Given the description of an element on the screen output the (x, y) to click on. 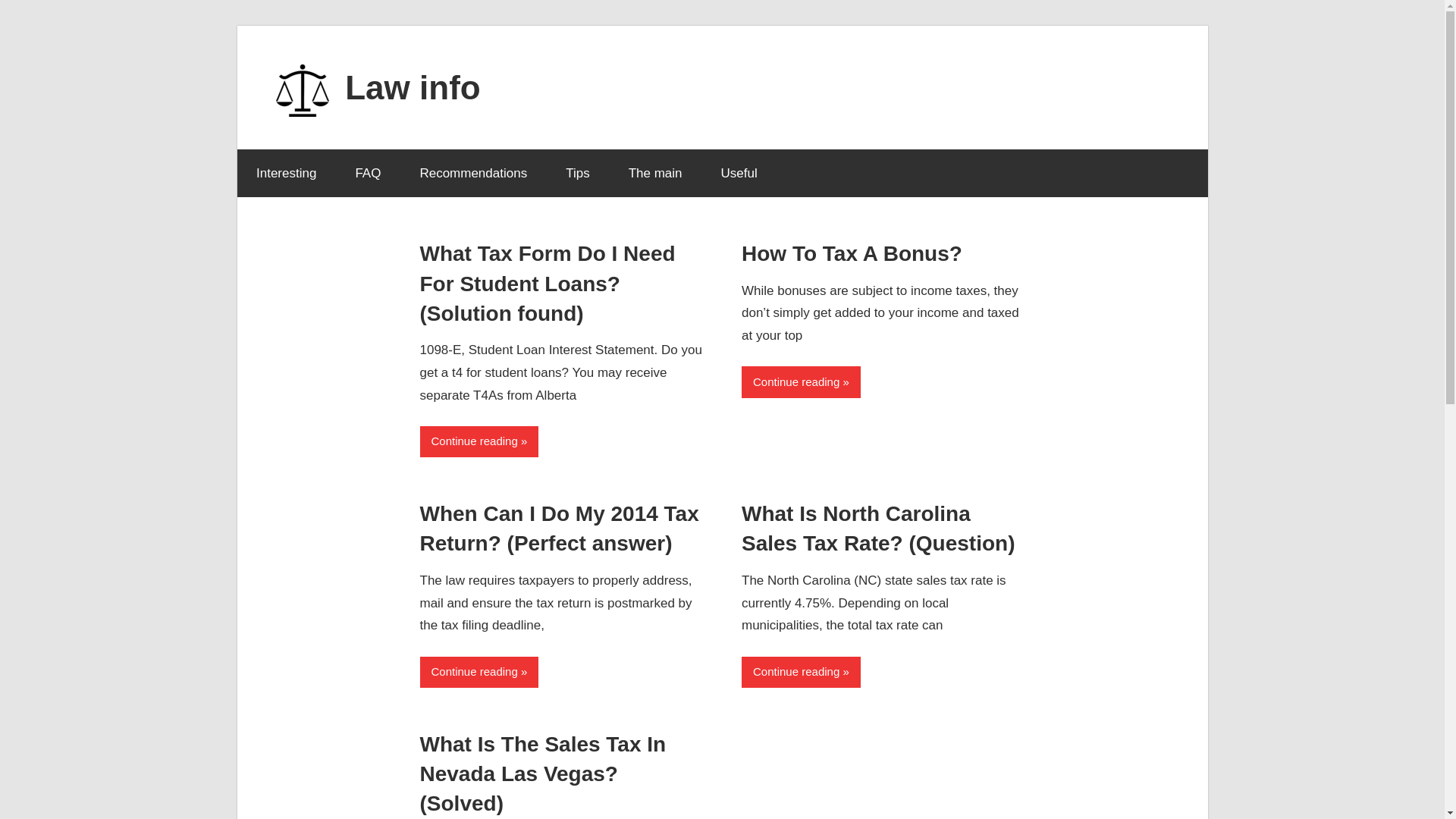
FAQ (368, 172)
Useful (738, 172)
Continue reading (479, 671)
Interesting (284, 172)
Continue reading (479, 441)
Recommendations (473, 172)
Tips (578, 172)
How To Tax A Bonus? (851, 253)
Law info (412, 86)
Continue reading (800, 671)
The main (654, 172)
Continue reading (800, 381)
